Given the description of an element on the screen output the (x, y) to click on. 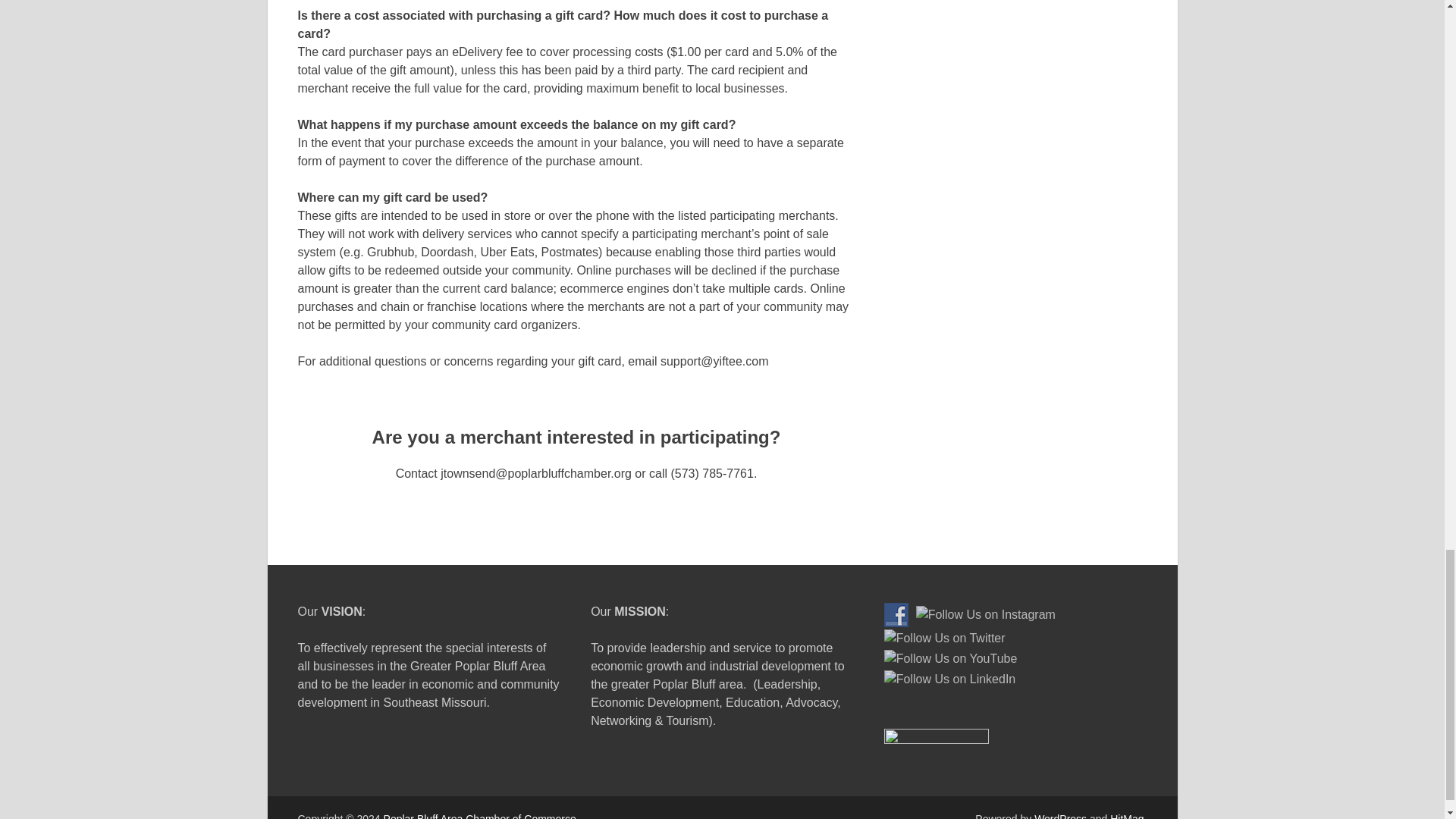
Follow Us on Facebook (895, 614)
Follow Us on YouTube (950, 659)
Follow Us on LinkedIn (948, 679)
Follow Us on Instagram (985, 615)
Follow Us on Twitter (944, 638)
